Given the description of an element on the screen output the (x, y) to click on. 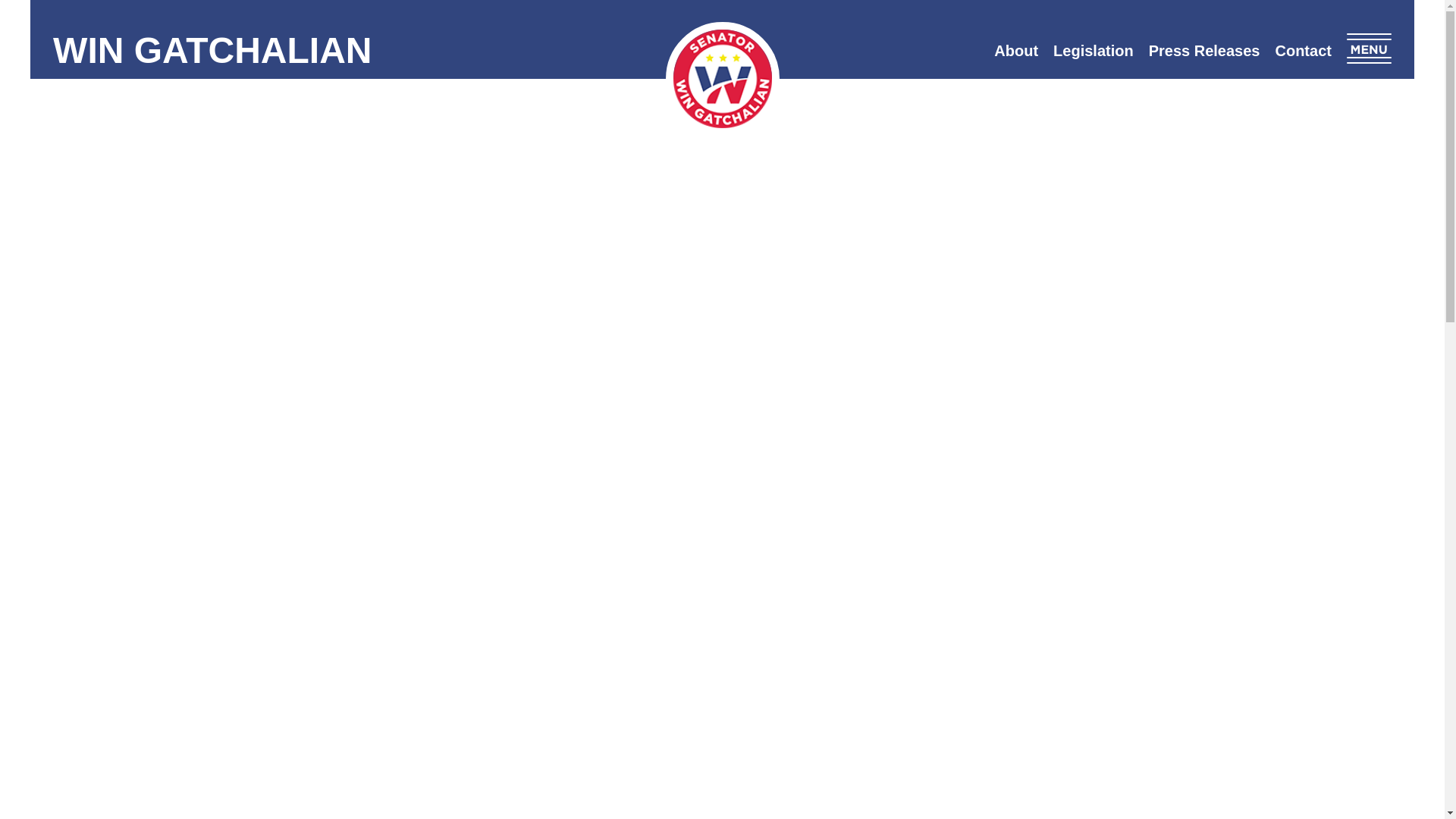
Legislation (1093, 50)
Contact (1302, 50)
About (1016, 50)
Press Releases (1204, 50)
